Given the description of an element on the screen output the (x, y) to click on. 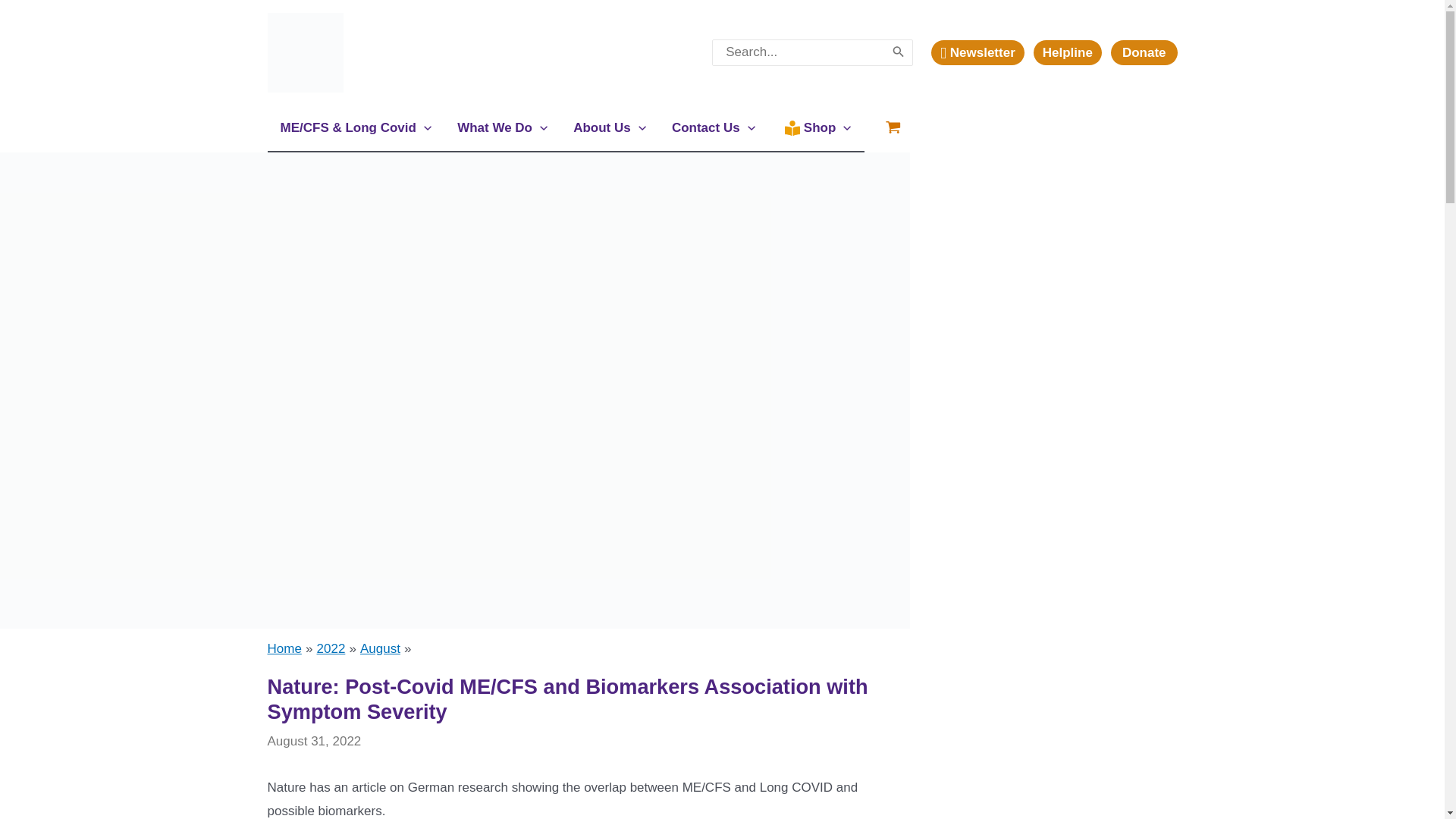
Helpline (1067, 52)
Newsletter (977, 52)
Helpline (1071, 51)
Donate (1143, 52)
Search (898, 53)
Donate (1143, 51)
Newsletter (981, 51)
What We Do (502, 127)
